Given the description of an element on the screen output the (x, y) to click on. 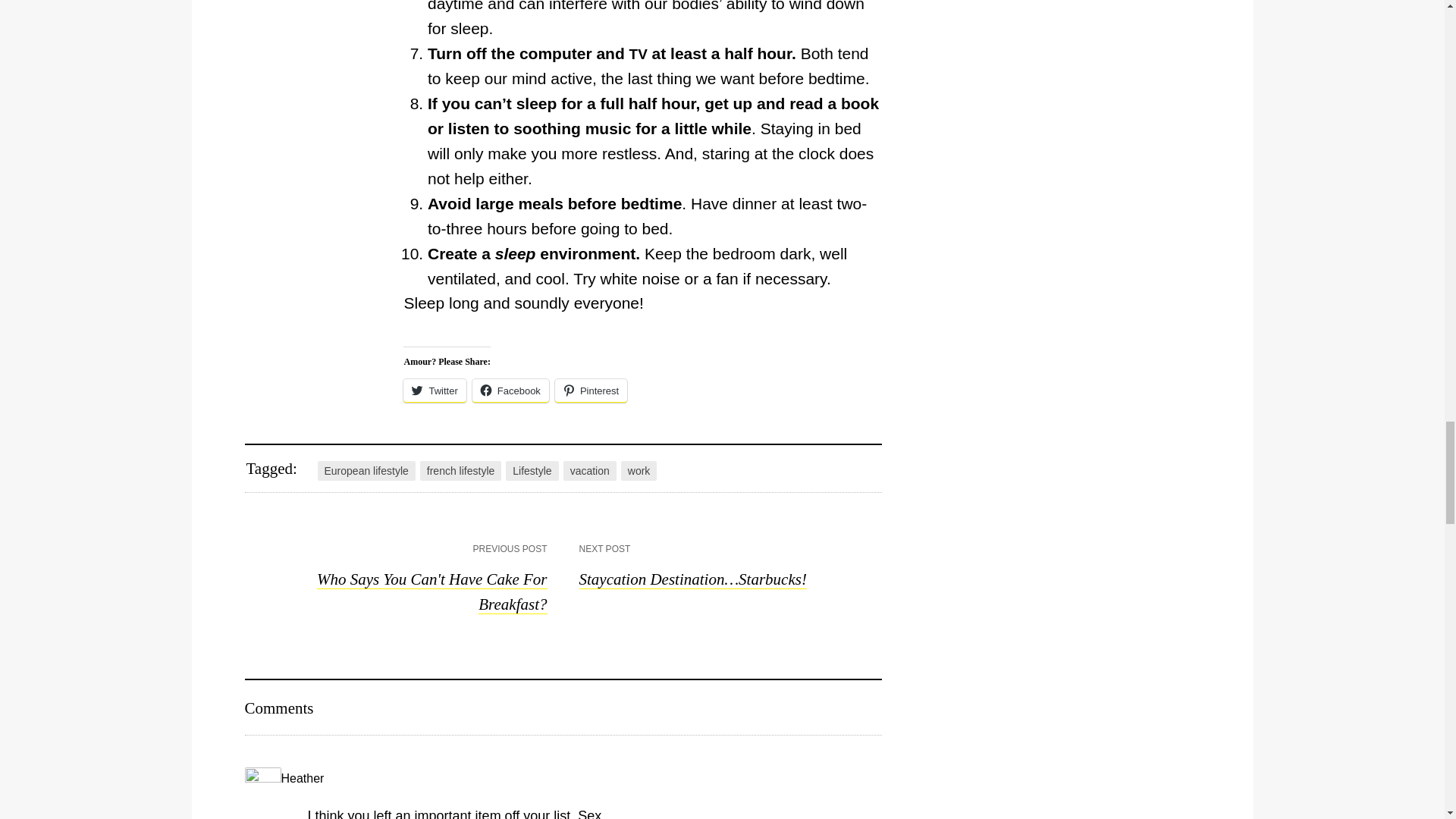
Facebook (509, 390)
vacation (589, 470)
french lifestyle (460, 470)
Twitter (434, 390)
Who Says You Can't Have Cake For Breakfast? (432, 592)
European lifestyle (365, 470)
work (639, 470)
Click to share on Facebook (509, 390)
Pinterest (590, 390)
Click to share on Twitter (434, 390)
Lifestyle (531, 470)
Click to share on Pinterest (590, 390)
